Given the description of an element on the screen output the (x, y) to click on. 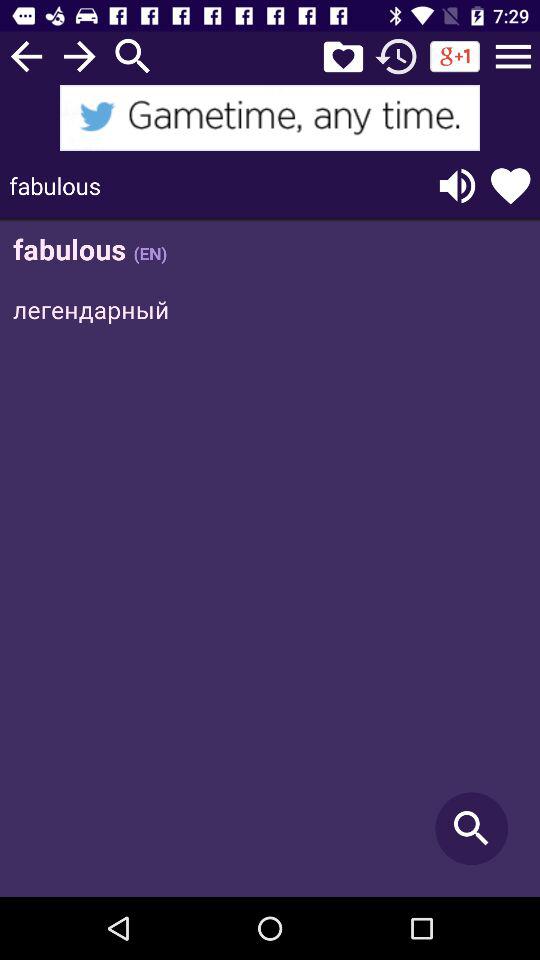
click discription (270, 559)
